Given the description of an element on the screen output the (x, y) to click on. 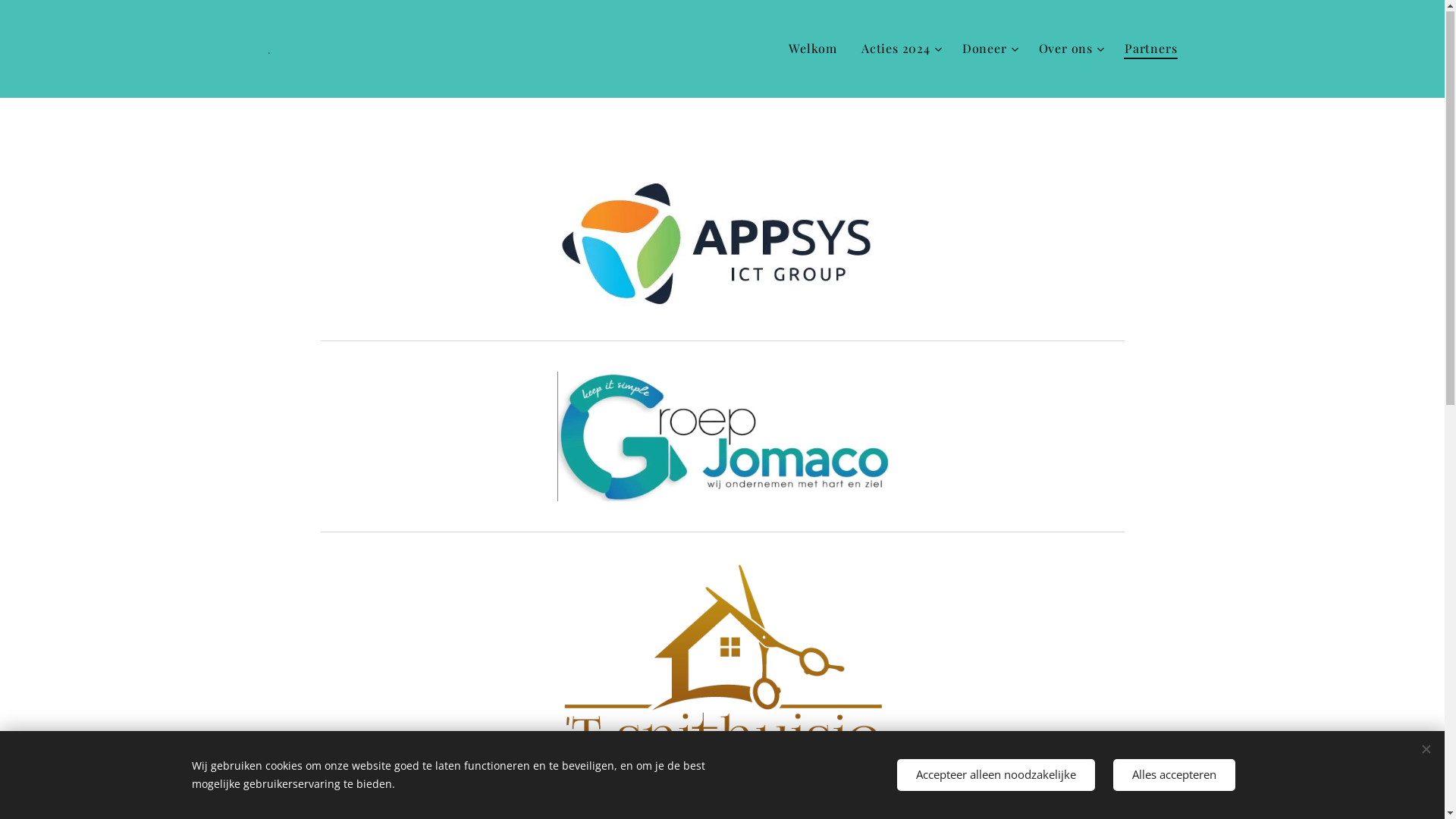
Doneer Element type: text (988, 49)
Alles accepteren Element type: text (1174, 774)
Accepteer alleen noodzakelijke Element type: text (995, 774)
Partners Element type: text (1144, 49)
Welkom Element type: text (816, 49)
Over ons Element type: text (1069, 49)
. Element type: text (268, 49)
Acties 2024 Element type: text (899, 49)
